Given the description of an element on the screen output the (x, y) to click on. 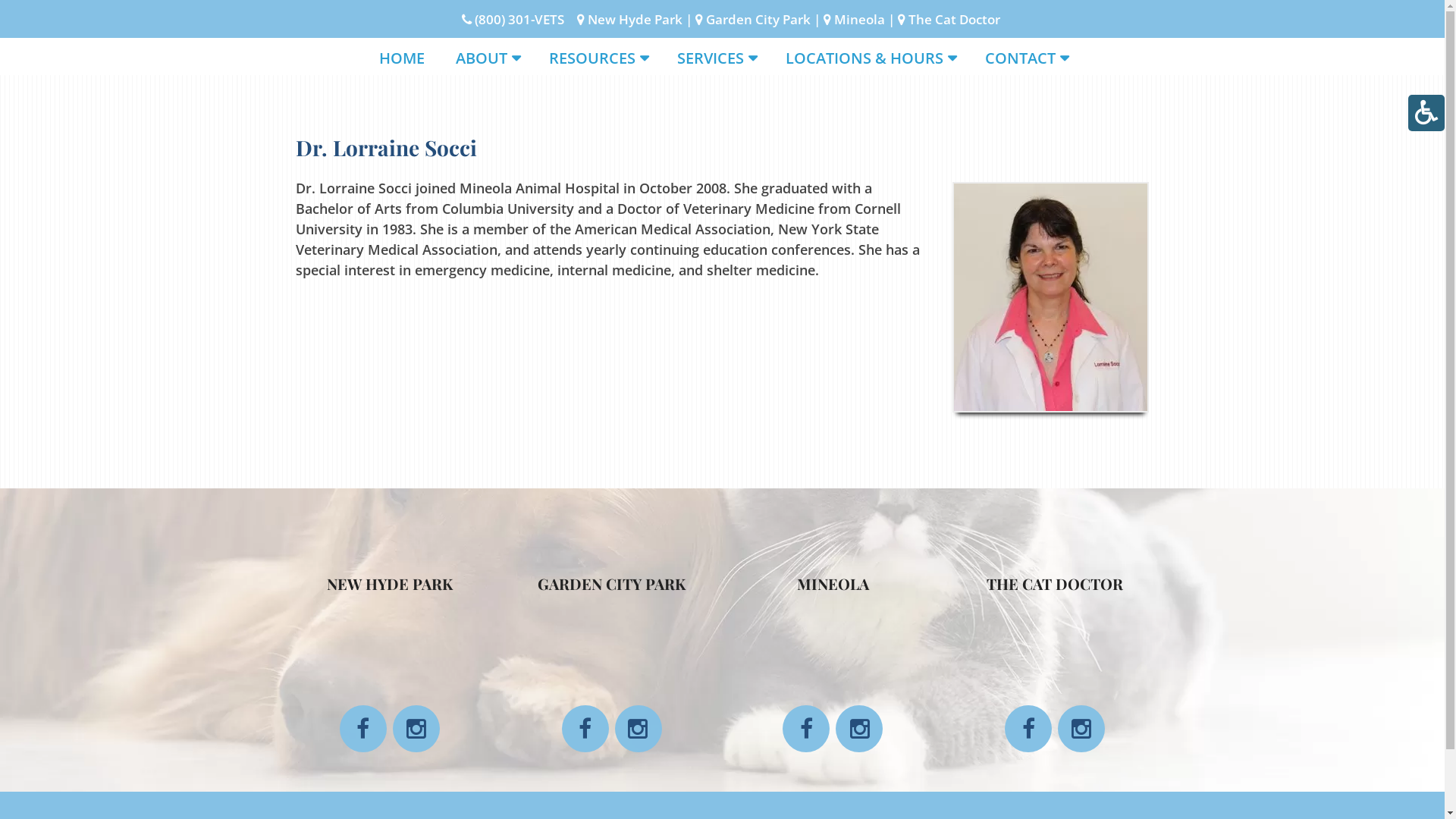
RESOURCES Element type: text (597, 60)
New Hyde Park Element type: text (634, 19)
Accessibility Helper sidebar Element type: hover (1426, 112)
HOME Element type: text (401, 60)
SERVICES Element type: text (714, 60)
Garden City Park Element type: text (758, 19)
(800) 301-VETS Element type: text (519, 19)
CONTACT Element type: text (1024, 60)
LOCATIONS & HOURS Element type: text (869, 60)
The Cat Doctor Element type: text (954, 19)
Mineola Element type: text (859, 19)
ABOUT Element type: text (485, 60)
